Given the description of an element on the screen output the (x, y) to click on. 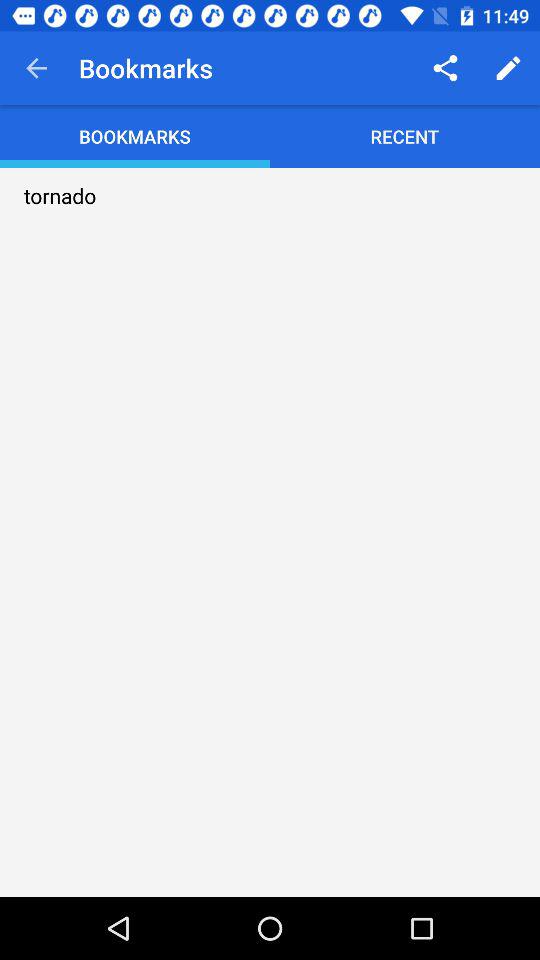
press the icon to the right of the bookmarks app (444, 67)
